Given the description of an element on the screen output the (x, y) to click on. 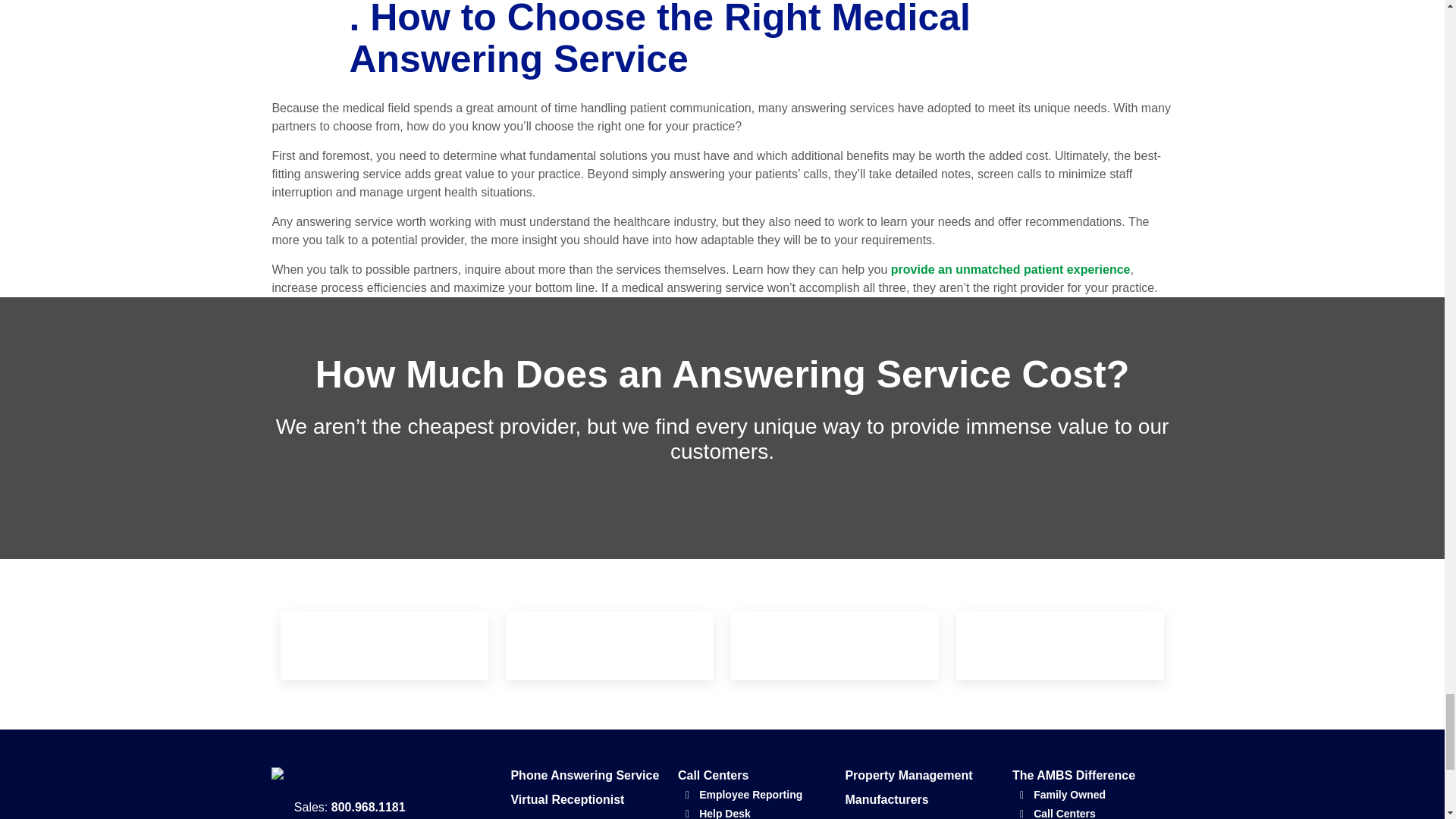
800.968.1181 (368, 807)
provide an unmatched patient experience (1011, 269)
Phone Answering Service (587, 775)
Virtual Receptionist (587, 799)
Employee Call Off Hotline (587, 817)
